Given the description of an element on the screen output the (x, y) to click on. 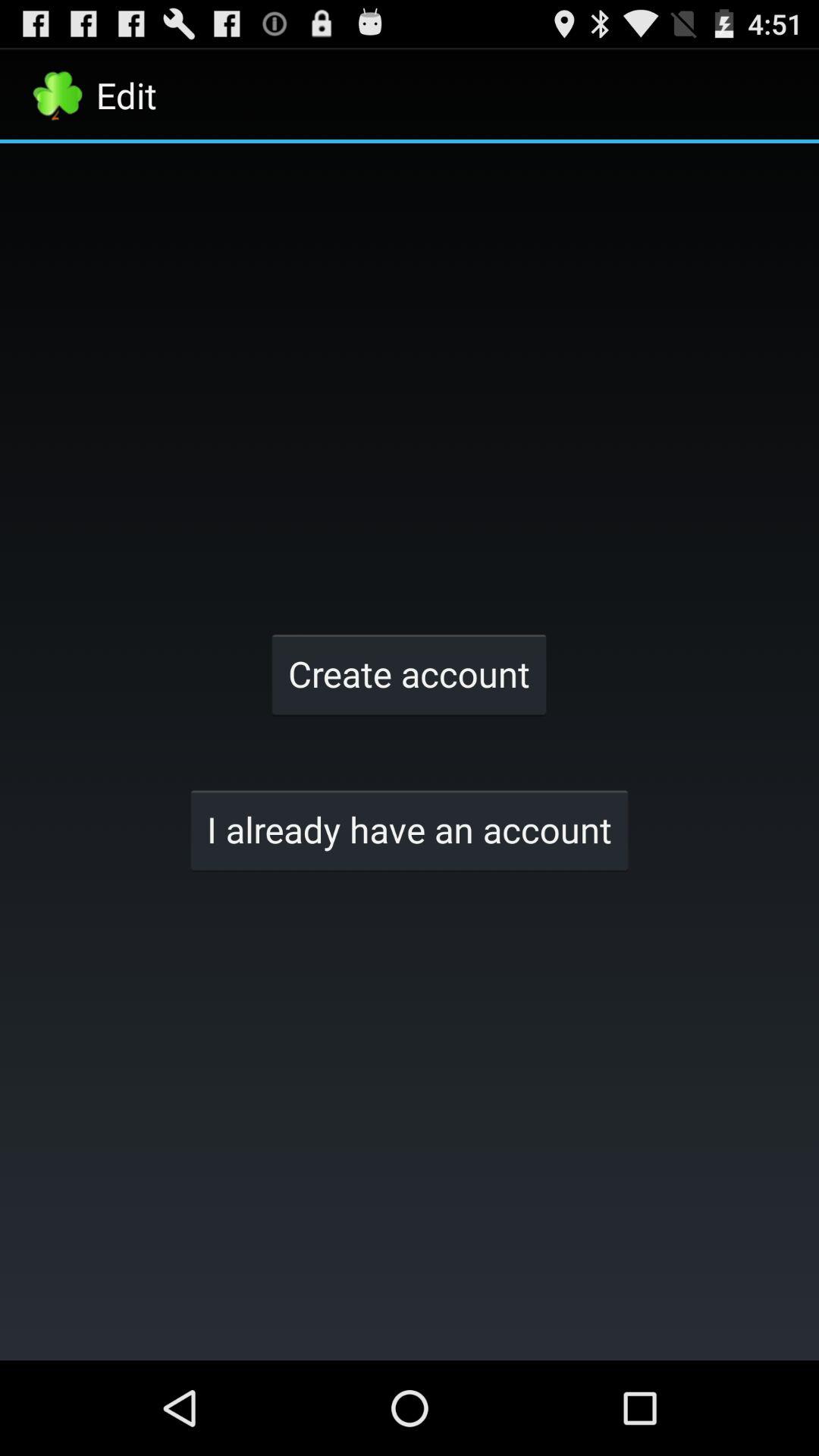
turn off create account (408, 673)
